Given the description of an element on the screen output the (x, y) to click on. 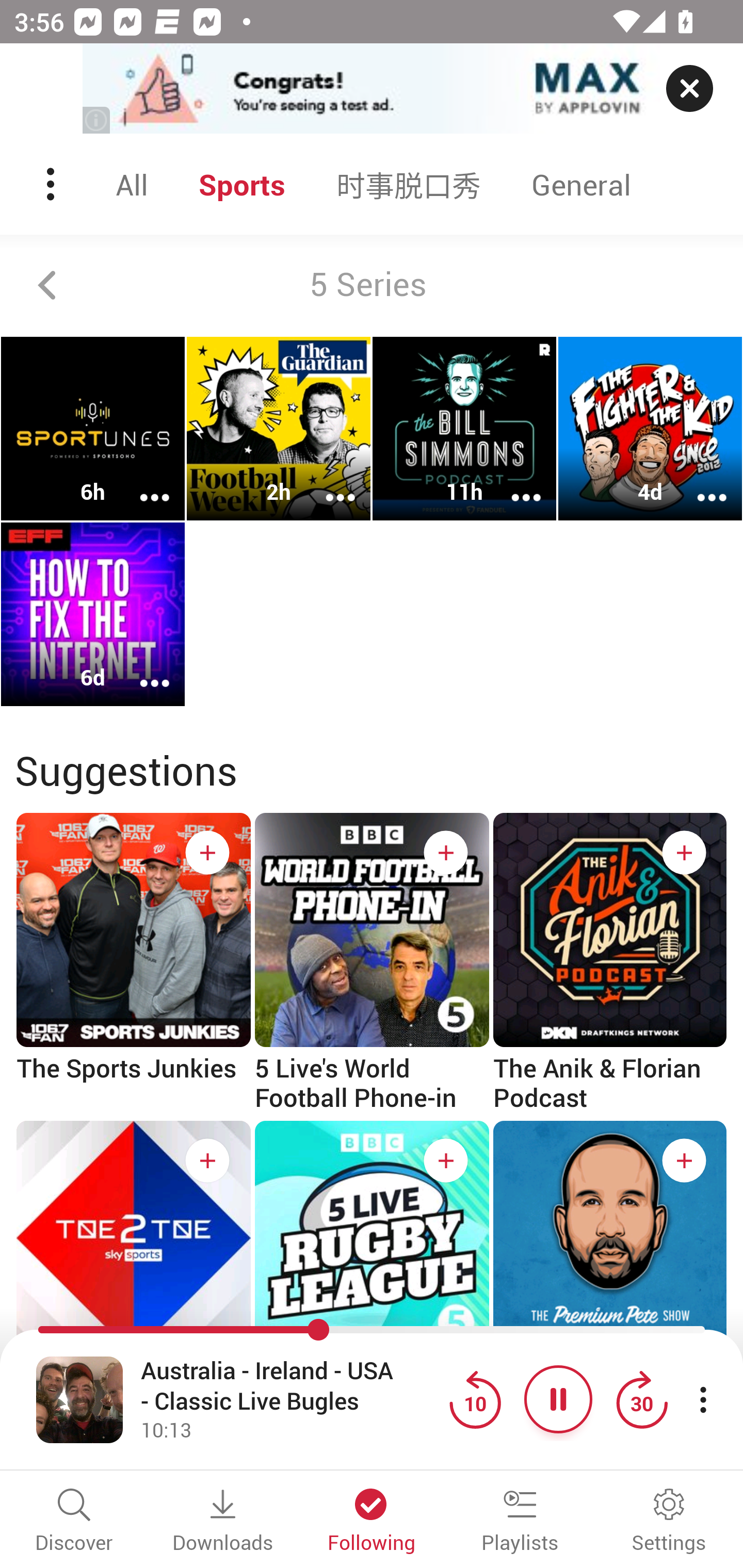
app-monetization (371, 88)
(i) (96, 119)
Menu (52, 184)
All (131, 184)
Sports (242, 184)
时事脱口秀 (408, 184)
General (580, 184)
5 Series (371, 285)
Sportunes HK 6h More options More options (92, 428)
Football Weekly 2h More options More options (278, 428)
The Fighter & The Kid 4d More options More options (650, 428)
More options (141, 484)
More options (326, 484)
More options (512, 484)
More options (698, 484)
More options (141, 669)
Subscribe button (207, 852)
Subscribe button (446, 852)
Subscribe button (684, 852)
Subscribe button (207, 1160)
Subscribe button (446, 1160)
Subscribe button (684, 1160)
Open fullscreen player (79, 1399)
More player controls (703, 1399)
Australia - Ireland - USA - Classic Live Bugles (290, 1385)
Pause button (558, 1398)
Jump back (475, 1399)
Jump forward (641, 1399)
Discover (74, 1521)
Downloads (222, 1521)
Following (371, 1521)
Playlists (519, 1521)
Settings (668, 1521)
